Given the description of an element on the screen output the (x, y) to click on. 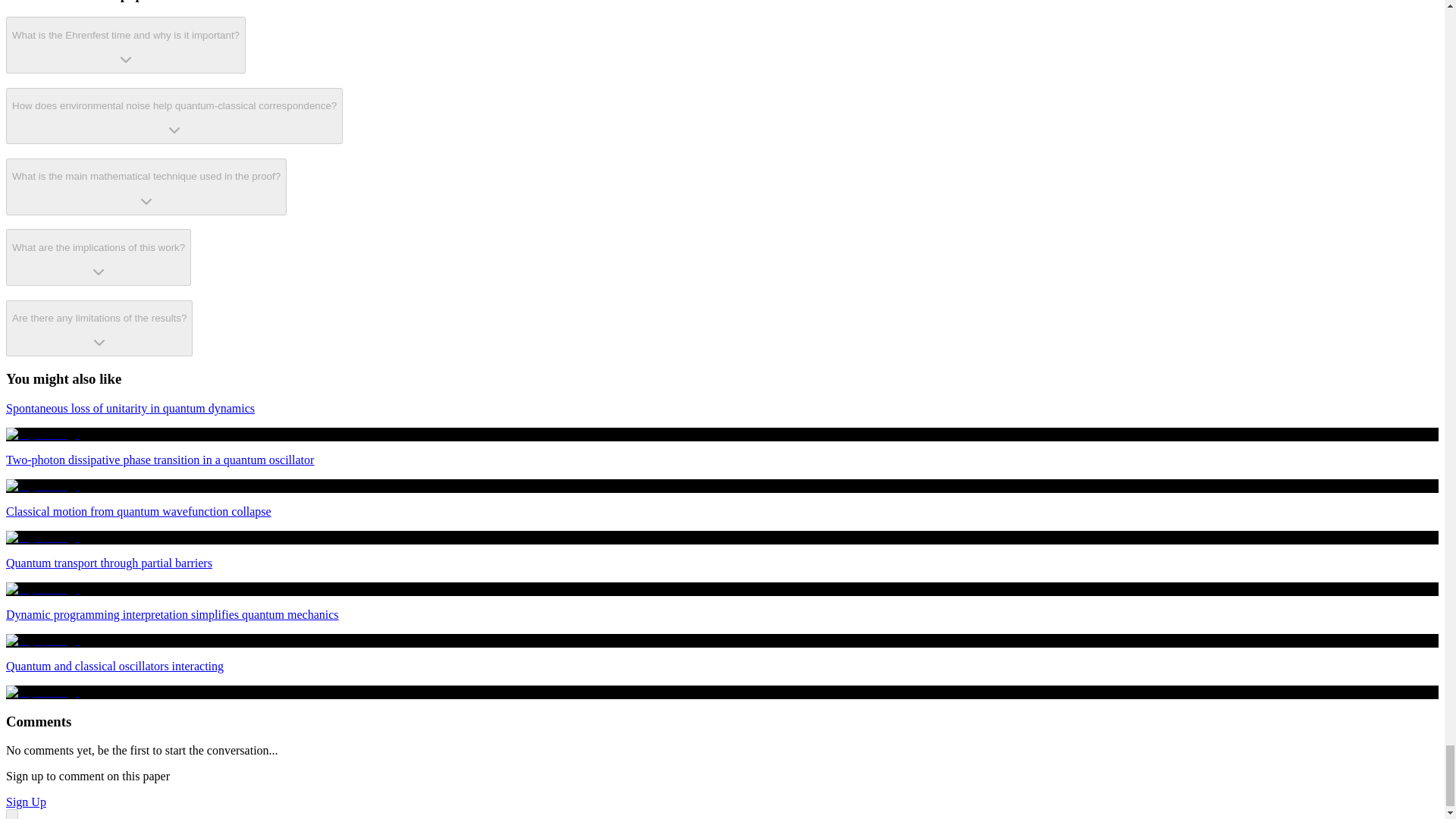
Are there any limitations of the results? (98, 328)
Sign Up (25, 801)
What is the Ehrenfest time and why is it important? (125, 44)
What are the implications of this work? (97, 257)
What is the main mathematical technique used in the proof? (145, 186)
